Given the description of an element on the screen output the (x, y) to click on. 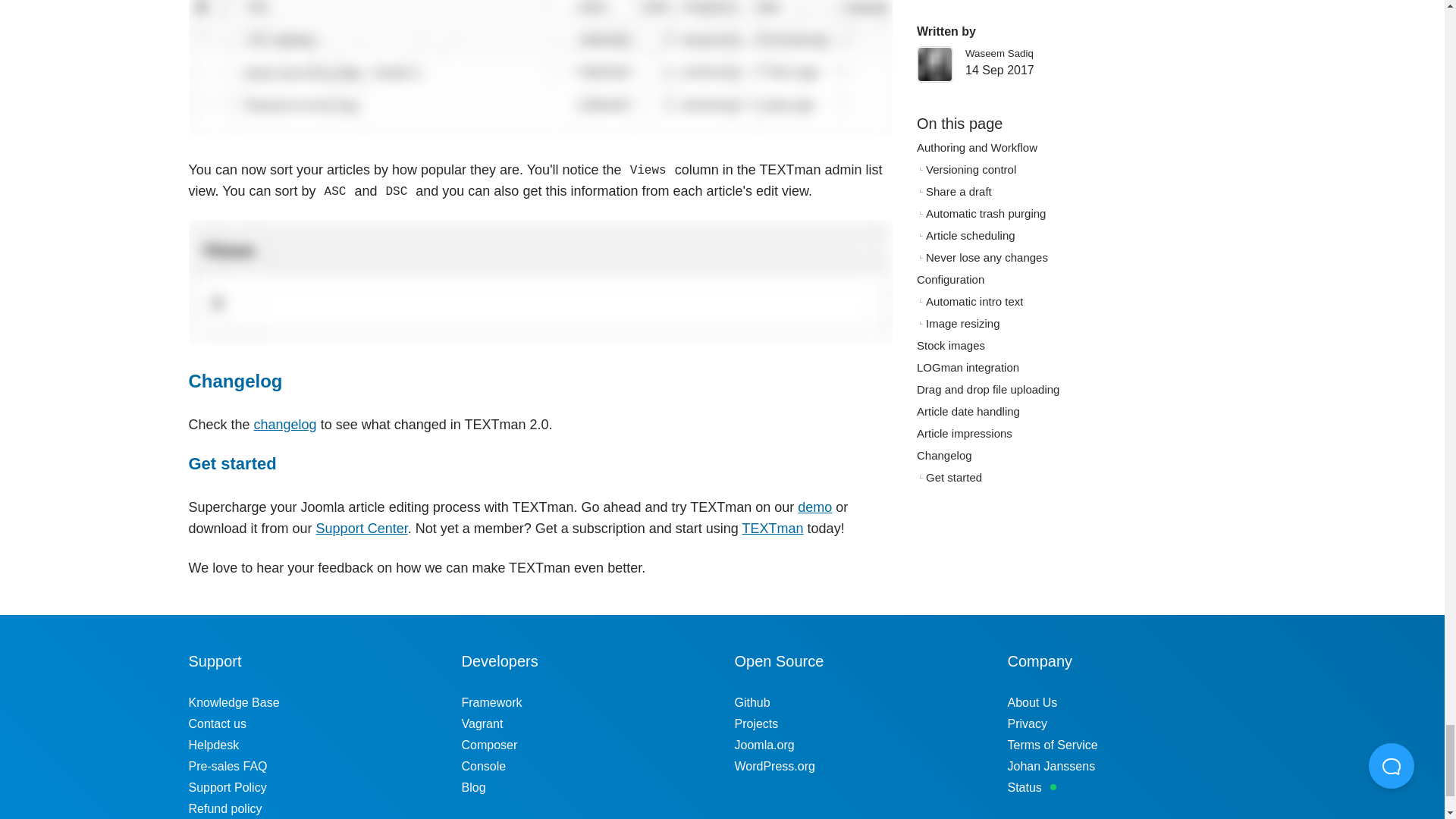
Get started (231, 463)
changelog (285, 424)
Changelog (234, 381)
